Given the description of an element on the screen output the (x, y) to click on. 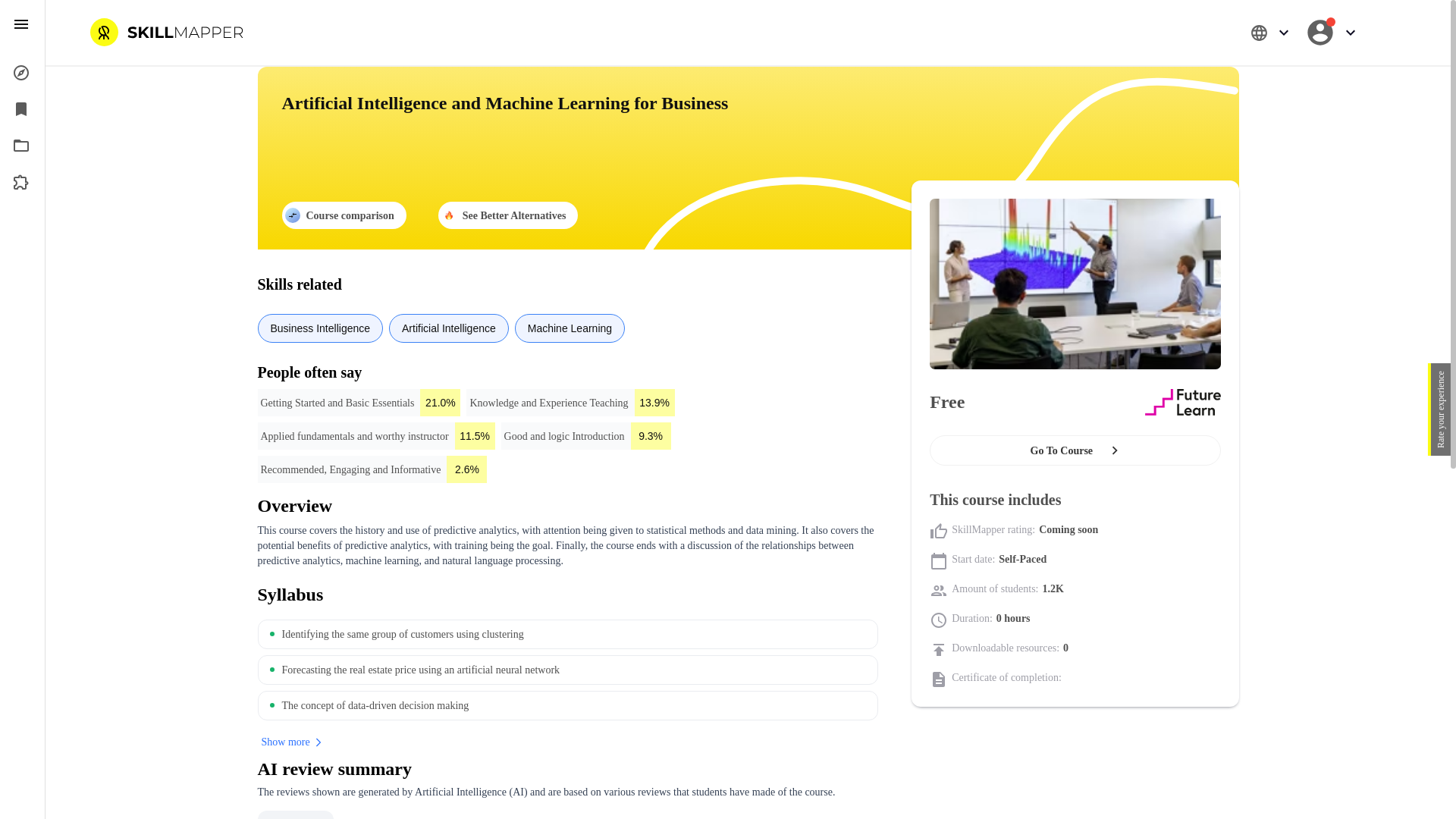
Artificial Intelligence and Machine Learning for Business (748, 126)
Library (22, 108)
See Better Alternatives (508, 215)
Go To Course (1075, 453)
Extension (22, 181)
Discover (22, 72)
Go To Course (1075, 450)
Paths (22, 145)
0 (1097, 39)
Course comparison (344, 215)
